Given the description of an element on the screen output the (x, y) to click on. 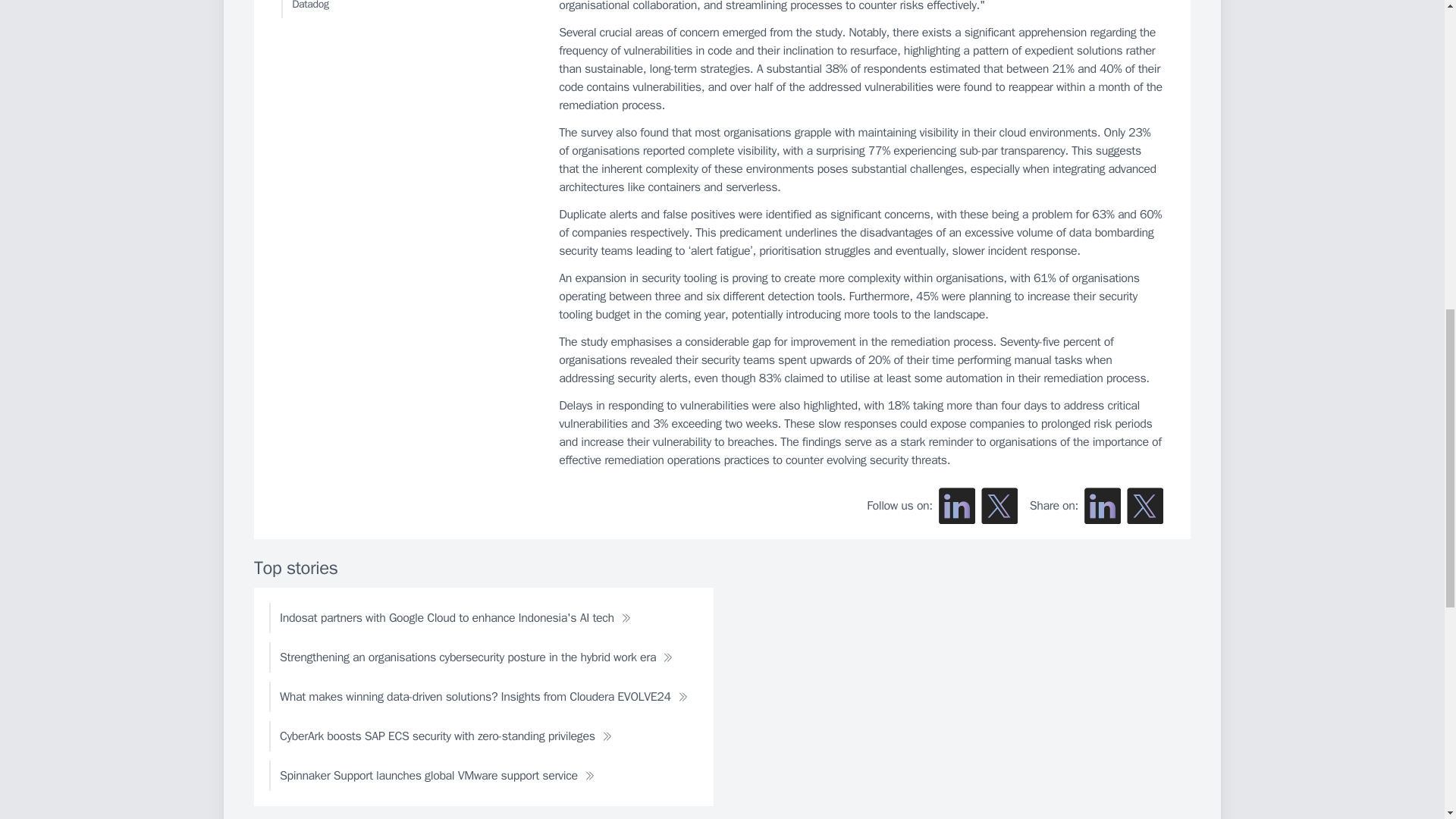
Yanbing Li appointed as new Chief Product Officer at Datadog (406, 9)
Spinnaker Support launches global VMware support service (437, 775)
